Given the description of an element on the screen output the (x, y) to click on. 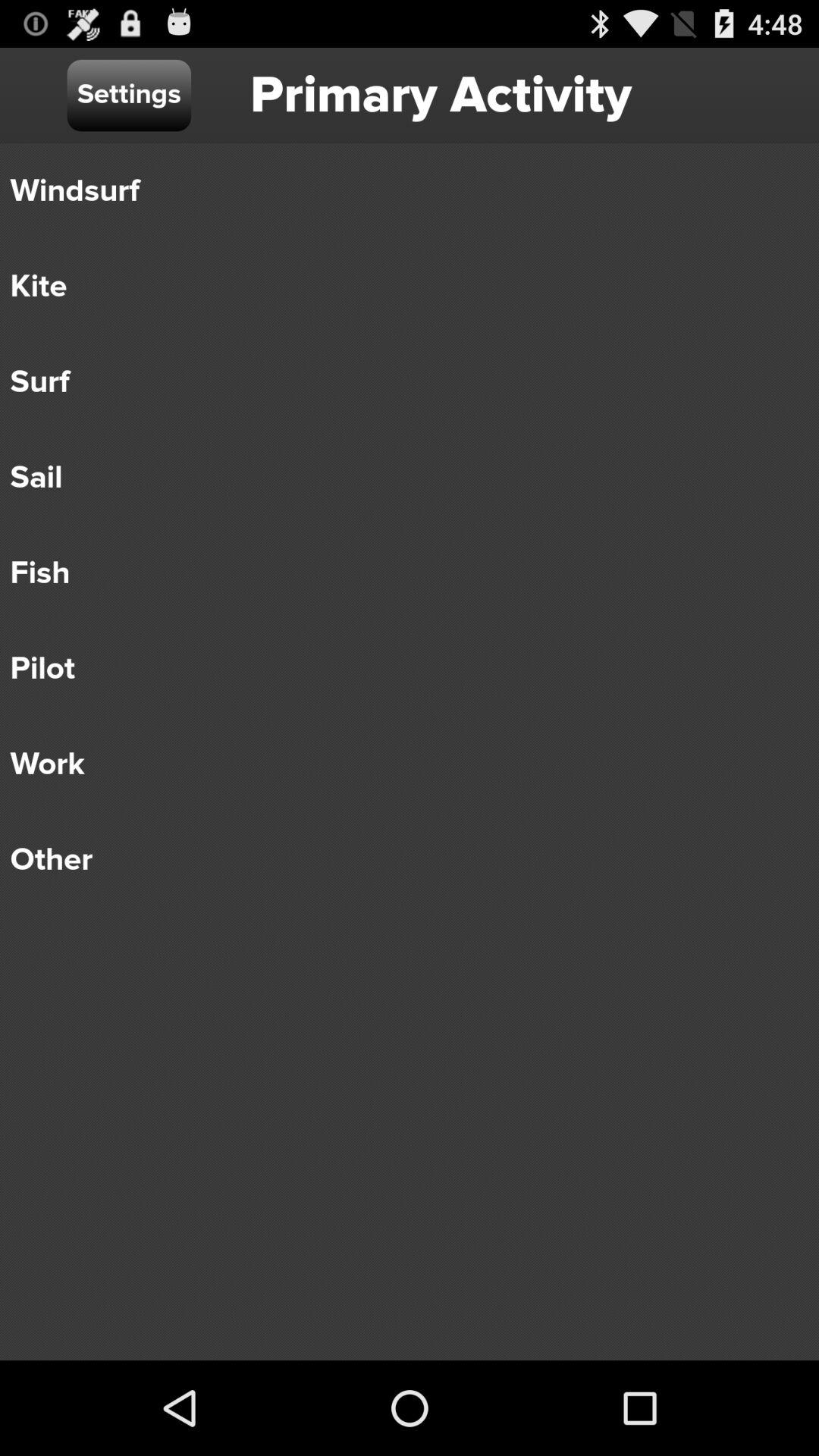
open the item above pilot icon (399, 572)
